Given the description of an element on the screen output the (x, y) to click on. 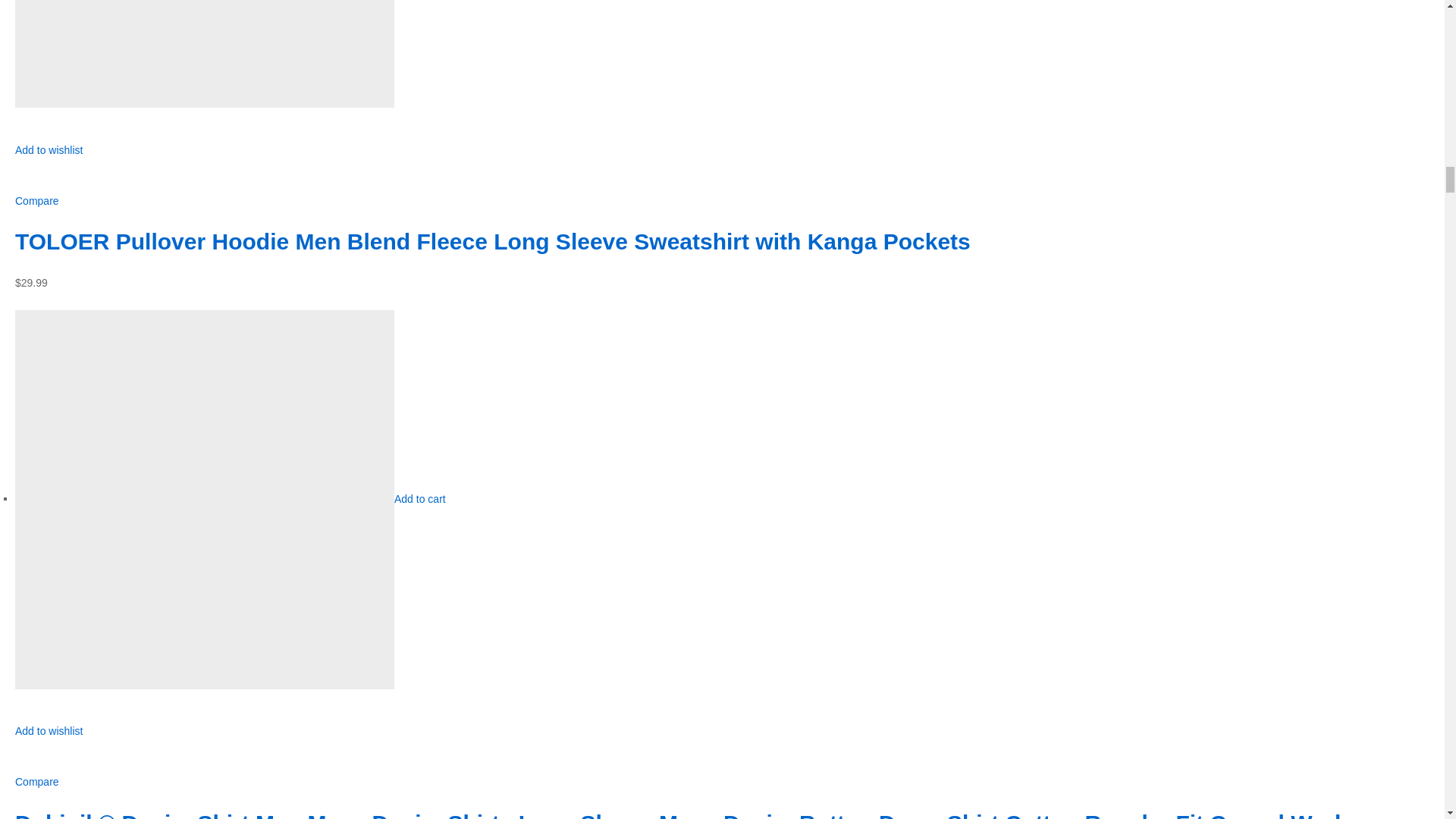
Compare (36, 781)
Add to wishlist (48, 738)
Add to wishlist (48, 158)
Compare (36, 200)
